Given the description of an element on the screen output the (x, y) to click on. 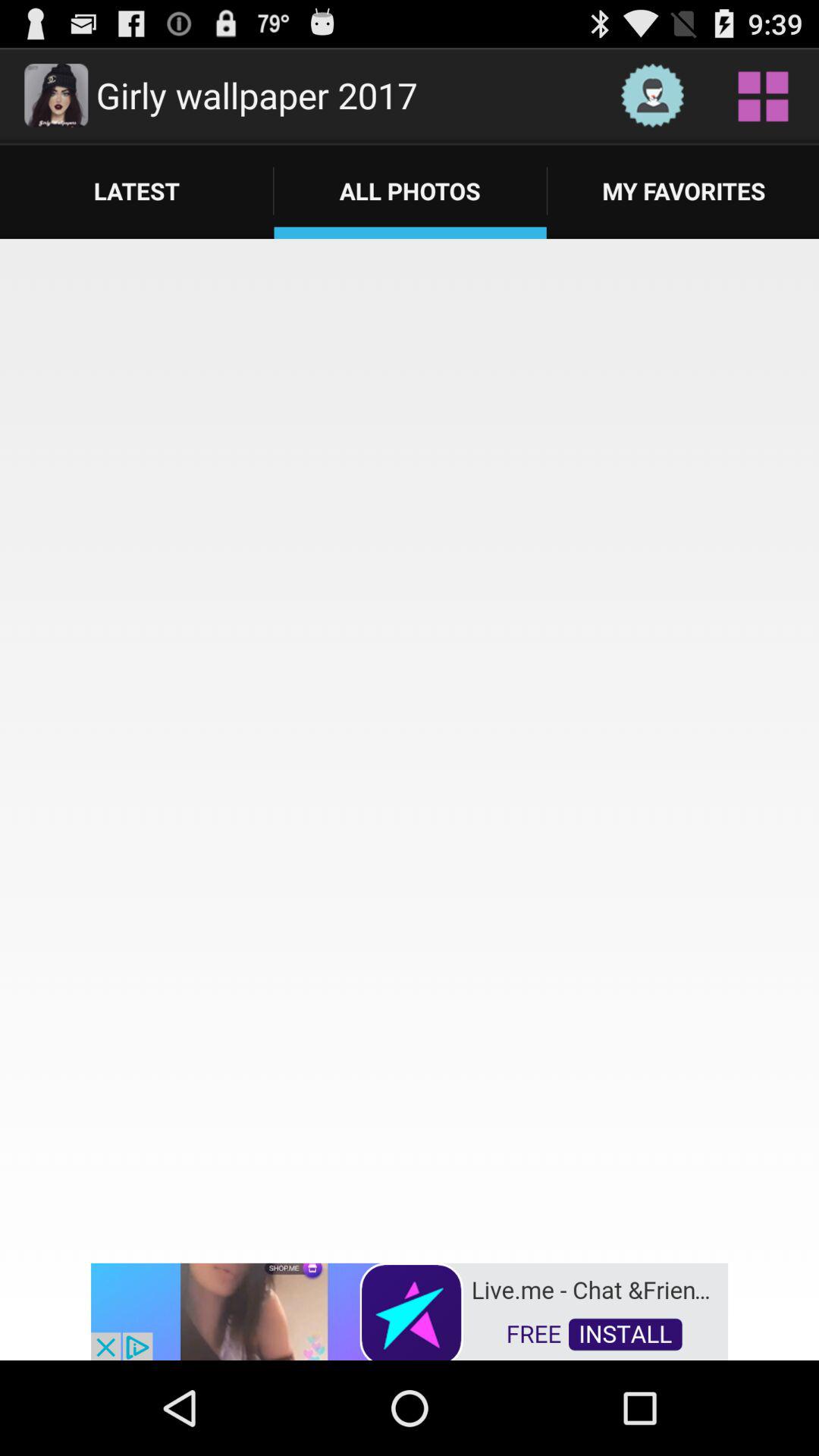
all photos (409, 749)
